Given the description of an element on the screen output the (x, y) to click on. 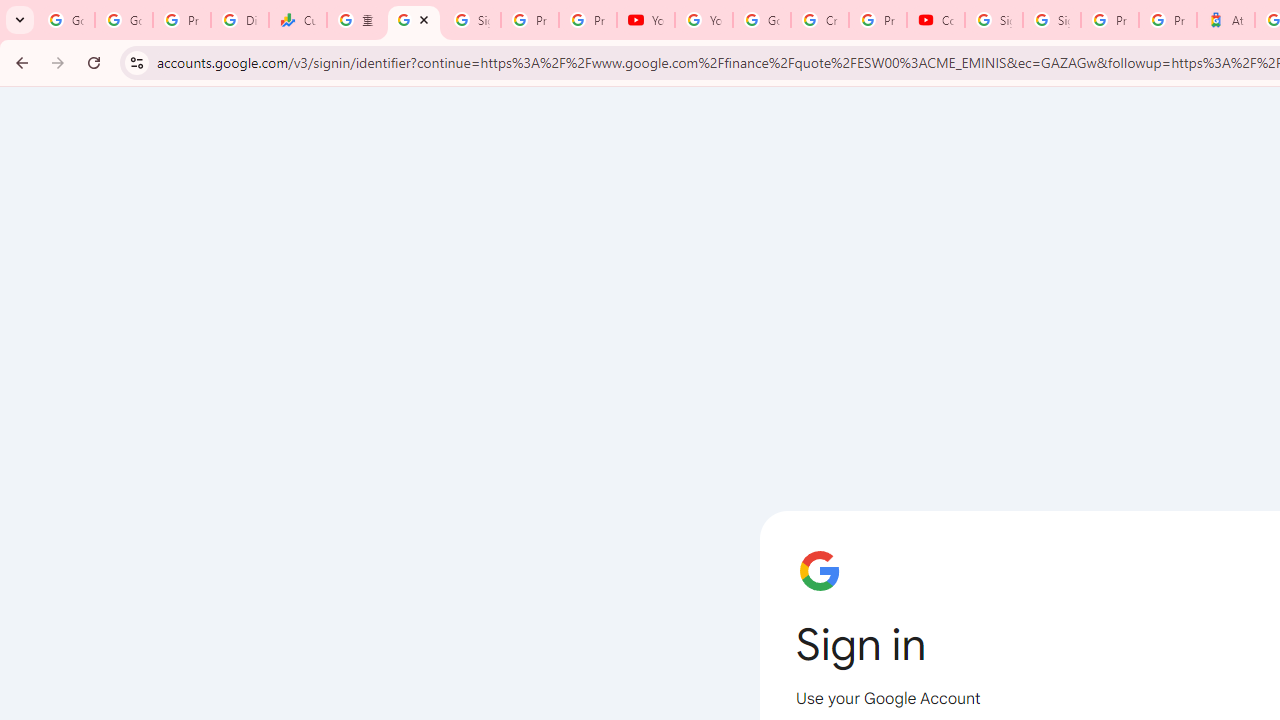
Currencies - Google Finance (297, 20)
YouTube (645, 20)
Google Account Help (762, 20)
Sign in - Google Accounts (471, 20)
Sign in - Google Accounts (1051, 20)
Create your Google Account (819, 20)
